Given the description of an element on the screen output the (x, y) to click on. 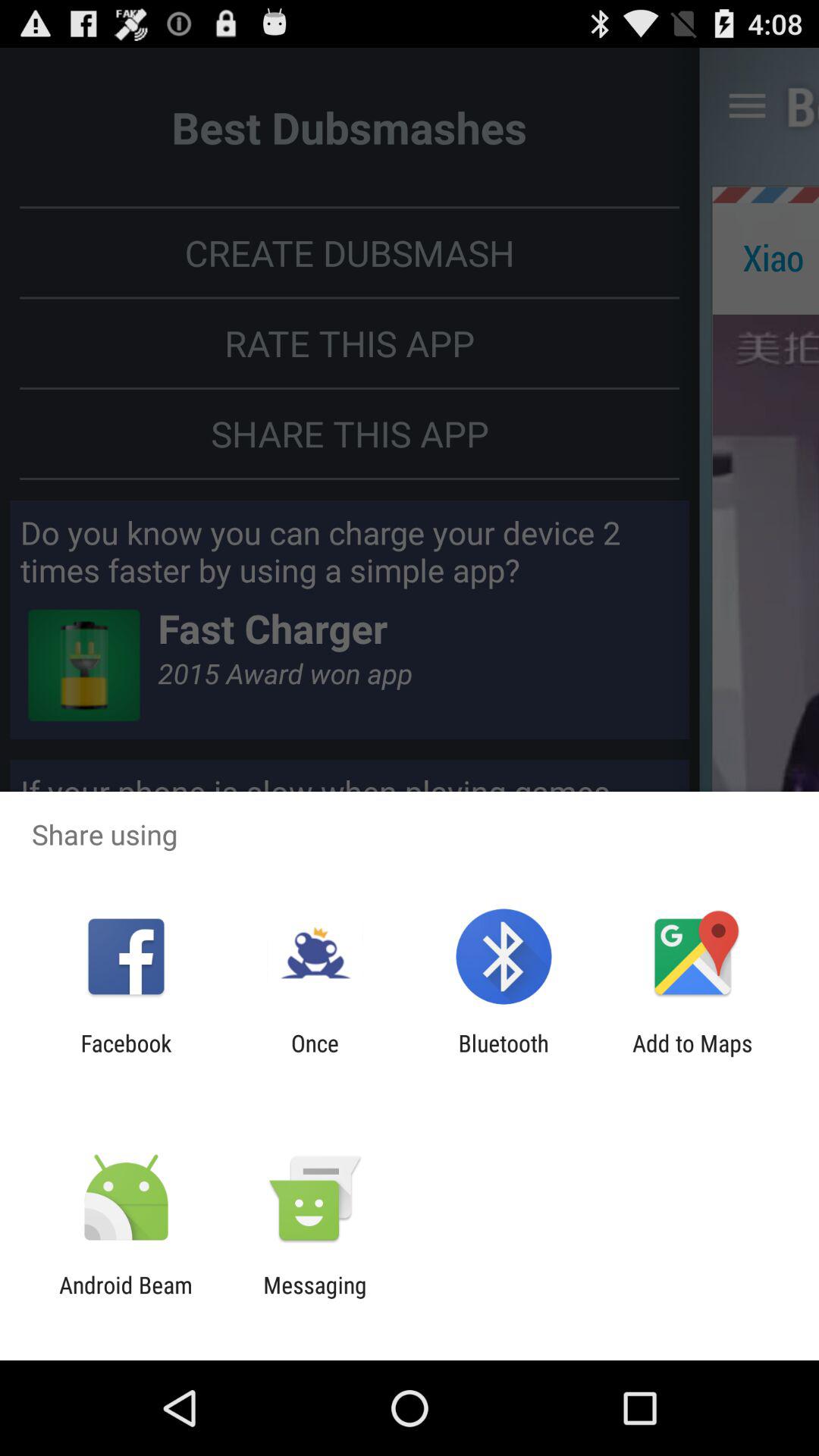
tap the app next to the facebook app (314, 1056)
